Given the description of an element on the screen output the (x, y) to click on. 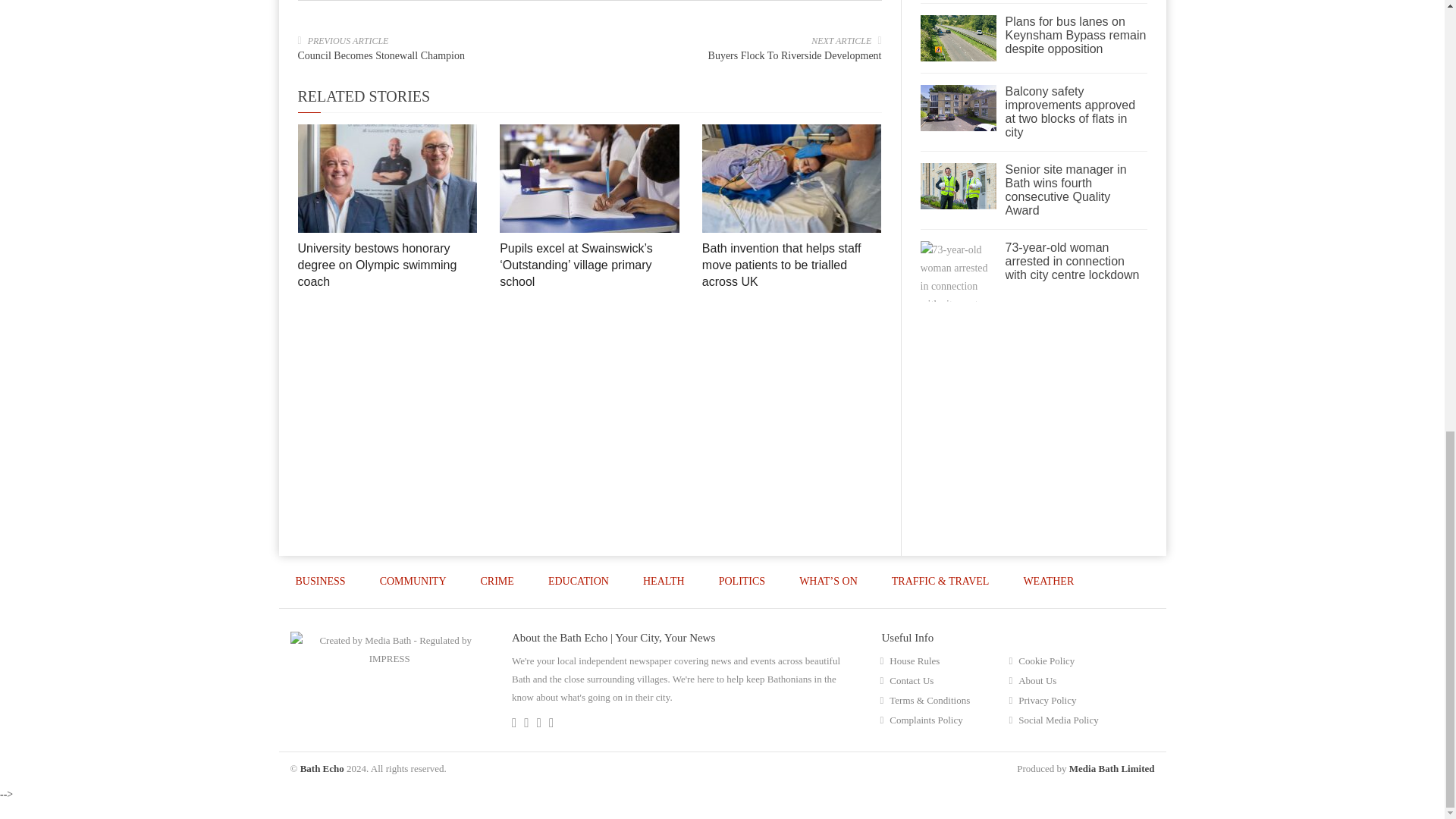
Council Becomes Stonewall Champion (380, 55)
BACK TO TOP (1113, 633)
Buyers Flock To Riverside Development (794, 55)
